Given the description of an element on the screen output the (x, y) to click on. 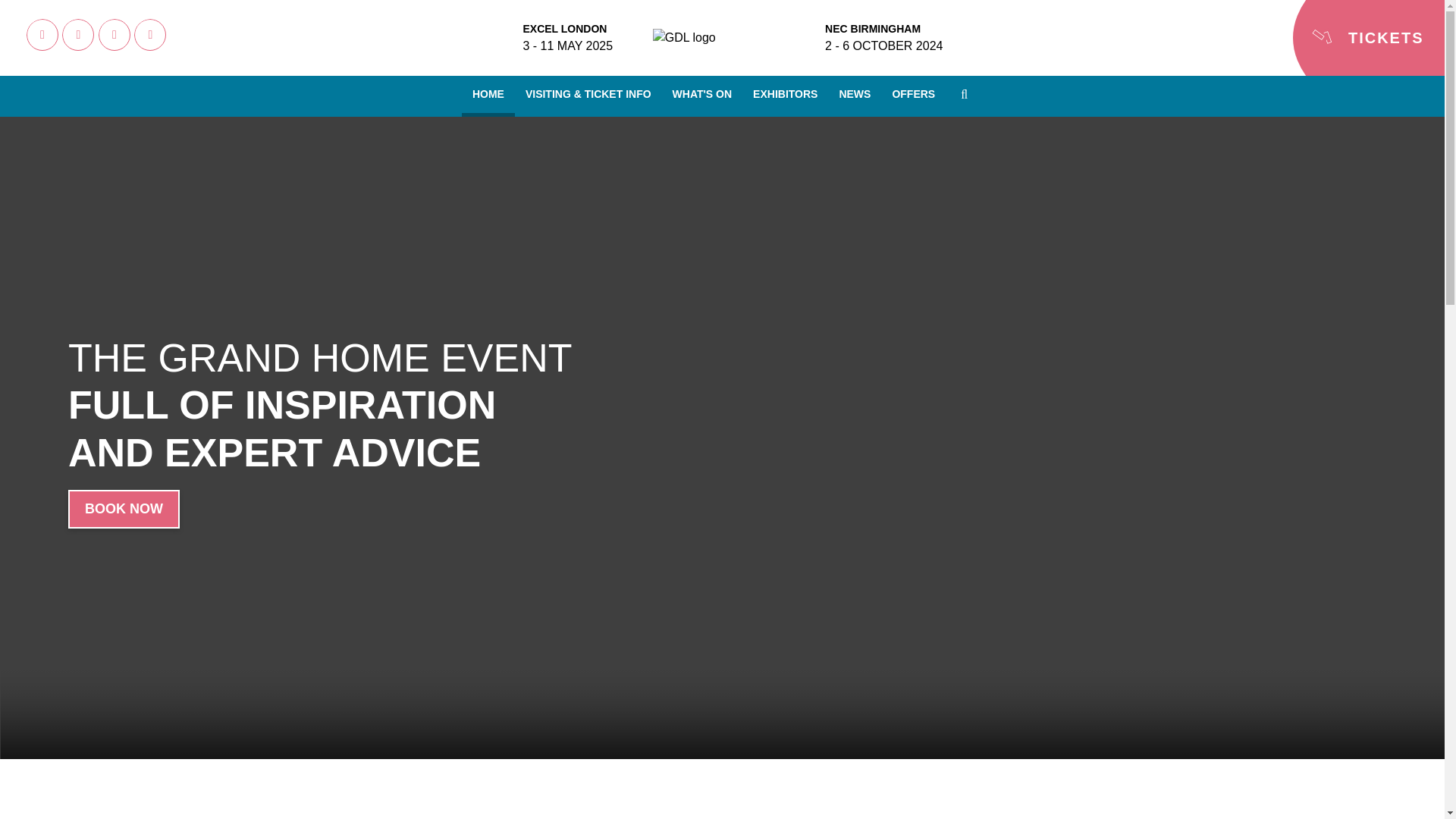
Facebook (42, 34)
HOME (488, 94)
Twitter (150, 34)
WHAT'S ON (702, 94)
BOOK NOW (123, 508)
Home (488, 96)
LinkedIn (115, 34)
What's On (702, 96)
NEWS (854, 94)
SEARCH (963, 94)
